Given the description of an element on the screen output the (x, y) to click on. 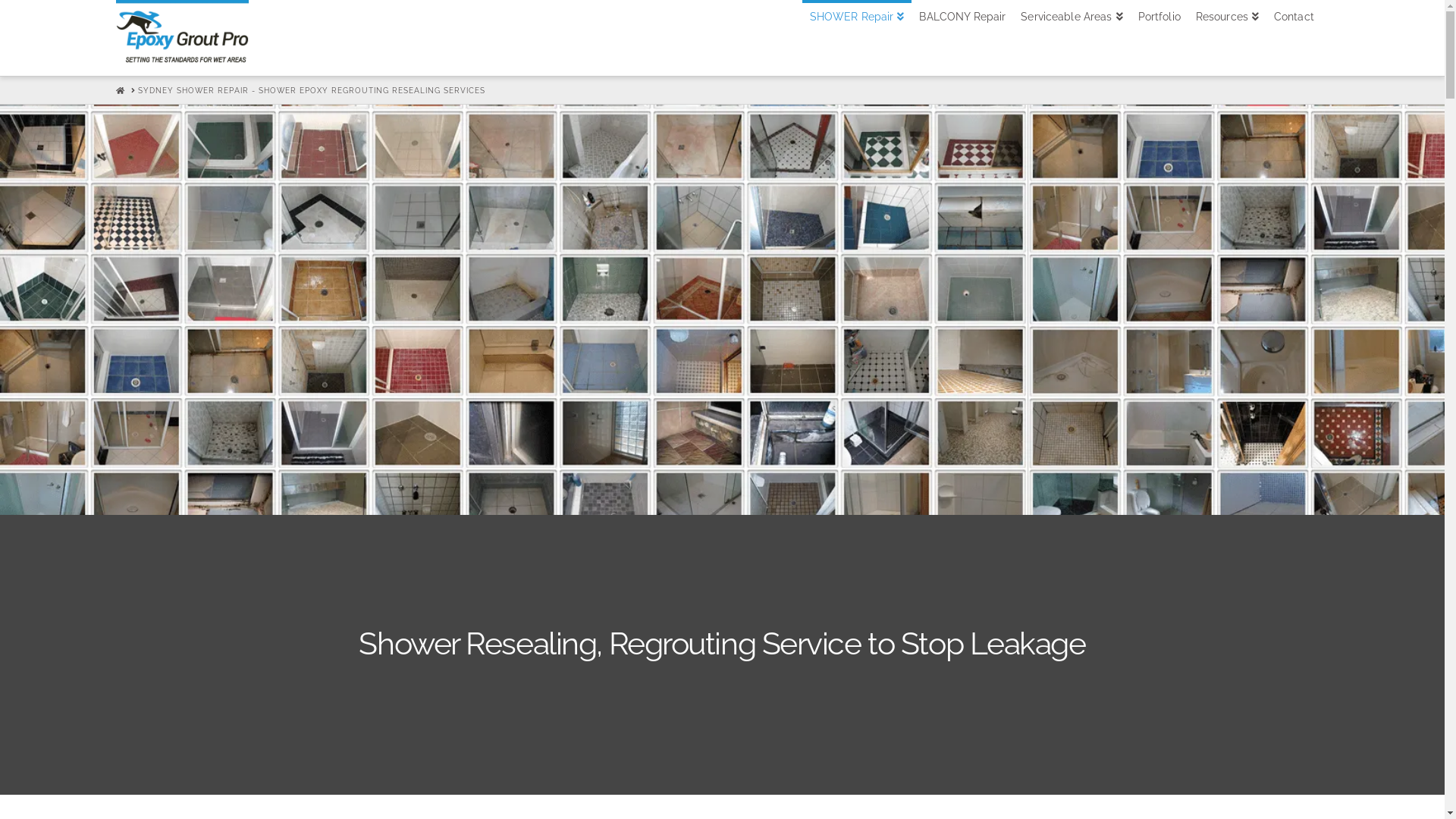
Portfolio Element type: text (1159, 37)
SHOWER Repair Element type: text (857, 37)
HOME Element type: text (119, 90)
Resources Element type: text (1227, 37)
Contact Element type: text (1293, 37)
Serviceable Areas Element type: text (1071, 37)
BALCONY Repair Element type: text (962, 37)
